Given the description of an element on the screen output the (x, y) to click on. 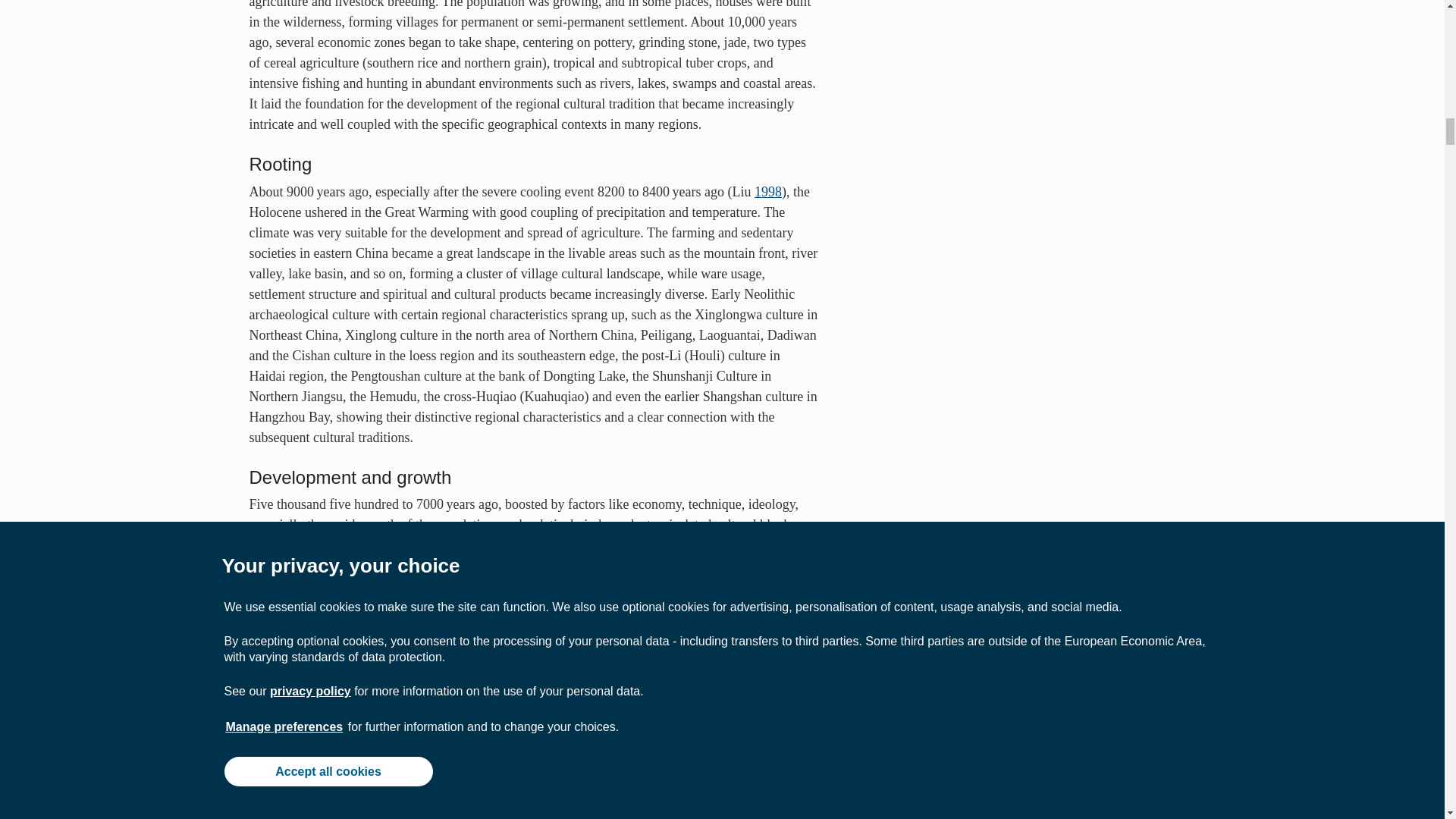
1989a (457, 688)
1998 (767, 191)
